Given the description of an element on the screen output the (x, y) to click on. 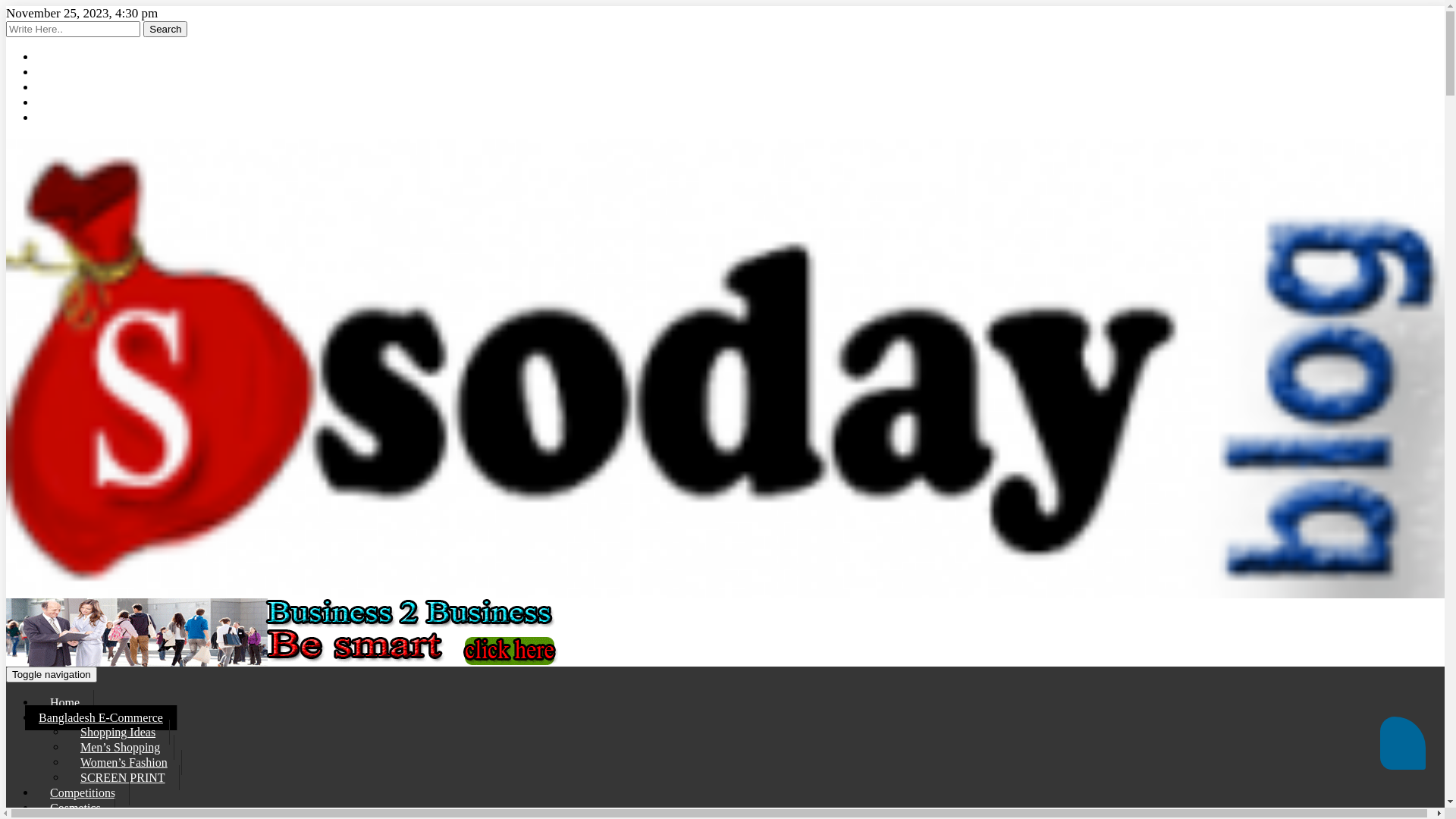
Competitions Element type: text (82, 792)
Search Element type: text (165, 29)
Toggle navigation Element type: text (51, 674)
Shopping Ideas Element type: text (117, 731)
Home Element type: text (65, 702)
SCREEN PRINT Element type: text (122, 777)
Bangladesh E-Commerce Element type: text (101, 717)
